Given the description of an element on the screen output the (x, y) to click on. 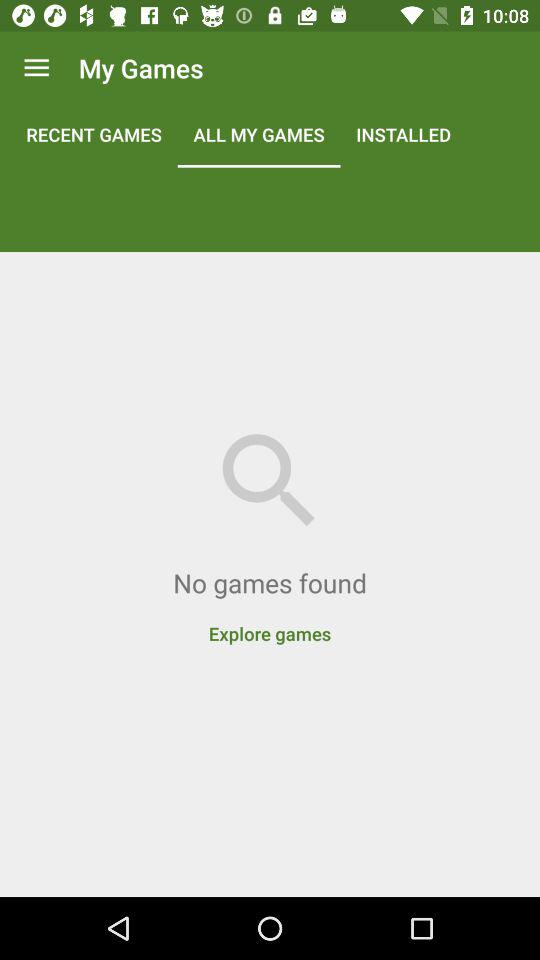
tap item above the recent games item (36, 68)
